Given the description of an element on the screen output the (x, y) to click on. 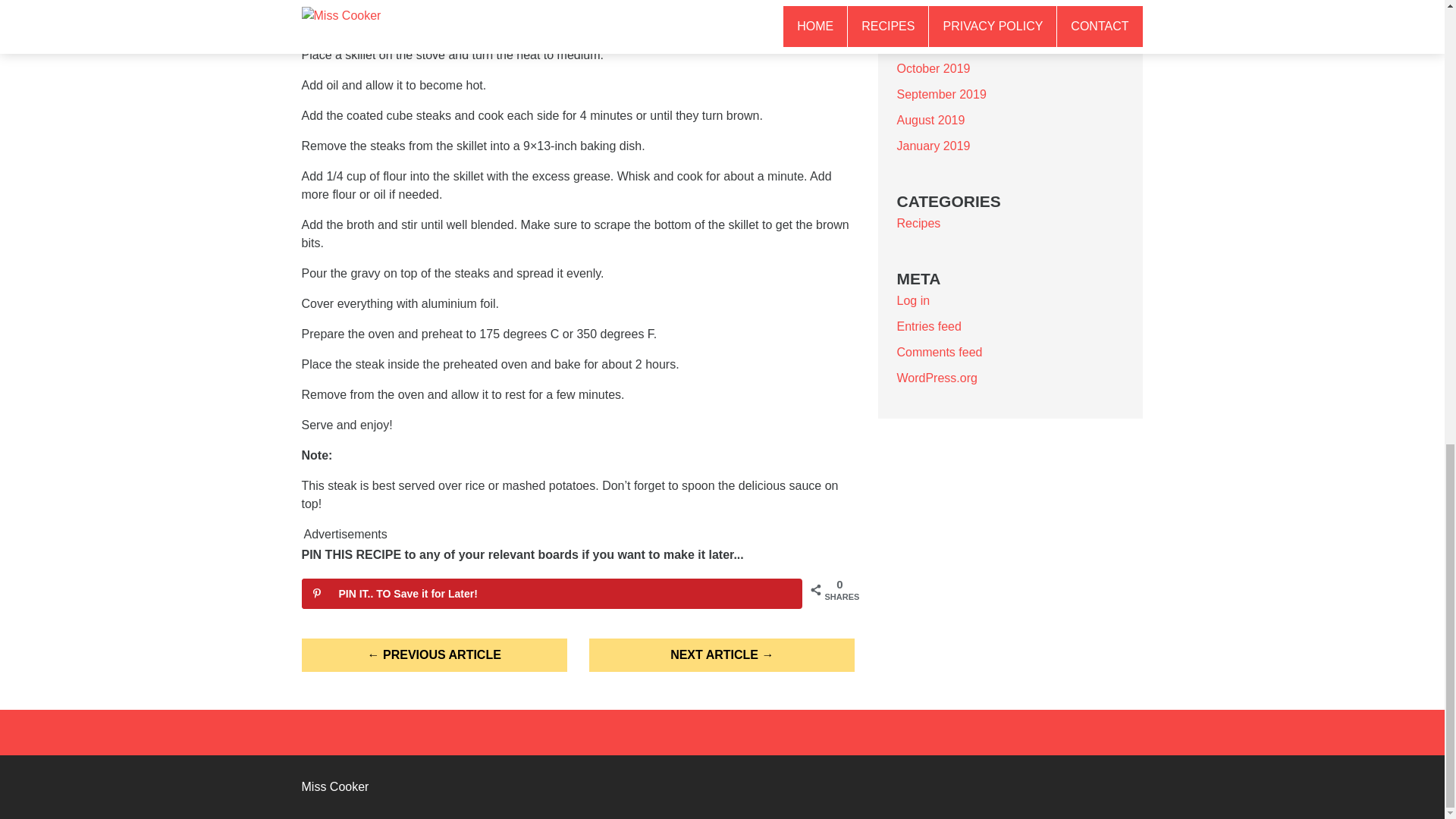
November 2019 (939, 42)
Save to Pinterest (551, 593)
PIN IT.. TO Save it for Later! (551, 593)
December 2019 (939, 16)
